Given the description of an element on the screen output the (x, y) to click on. 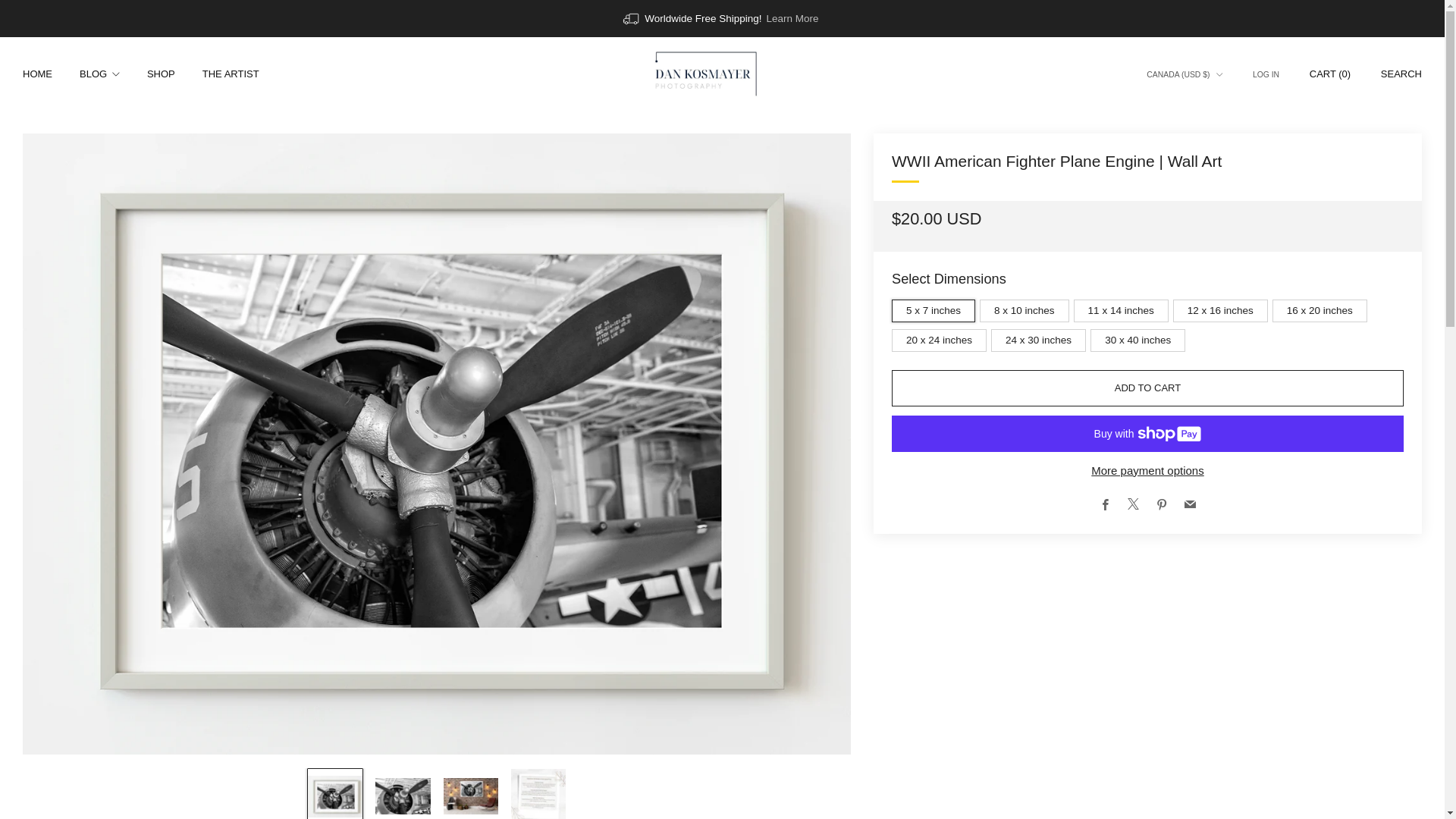
24 x 30 inches (1040, 337)
5 x 7 inches (935, 307)
BLOG (99, 73)
Learn More (792, 18)
20 x 24 inches (941, 337)
30 x 40 inches (1139, 337)
